Given the description of an element on the screen output the (x, y) to click on. 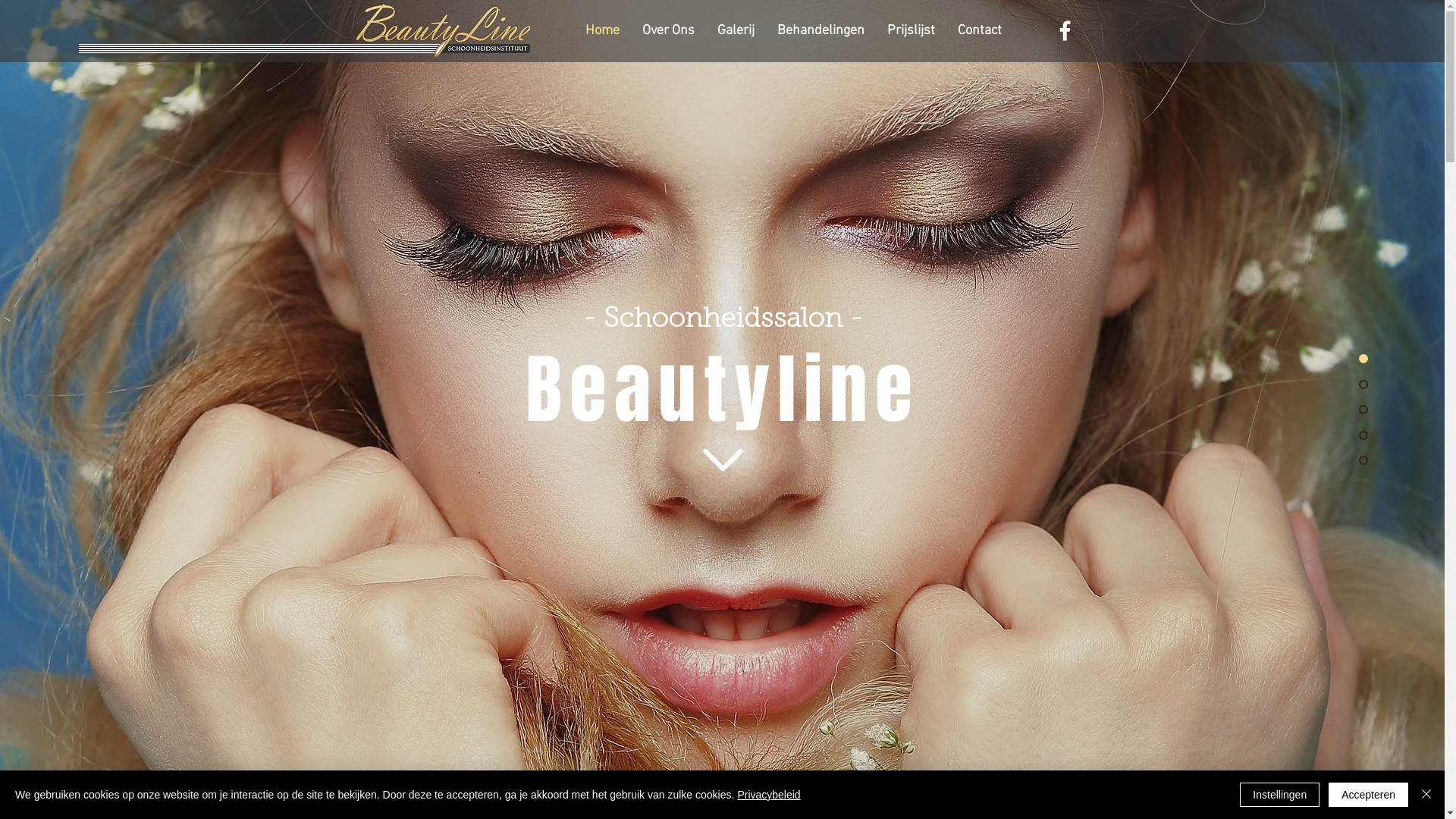
Home Element type: text (602, 31)
Instellingen Element type: text (1279, 794)
Privacybeleid Element type: text (768, 794)
Contact Element type: text (979, 31)
Prijslijst Element type: text (910, 31)
Galerij Element type: text (735, 31)
Over Ons Element type: text (668, 31)
Behandelingen Element type: text (820, 31)
Accepteren Element type: text (1368, 794)
